Given the description of an element on the screen output the (x, y) to click on. 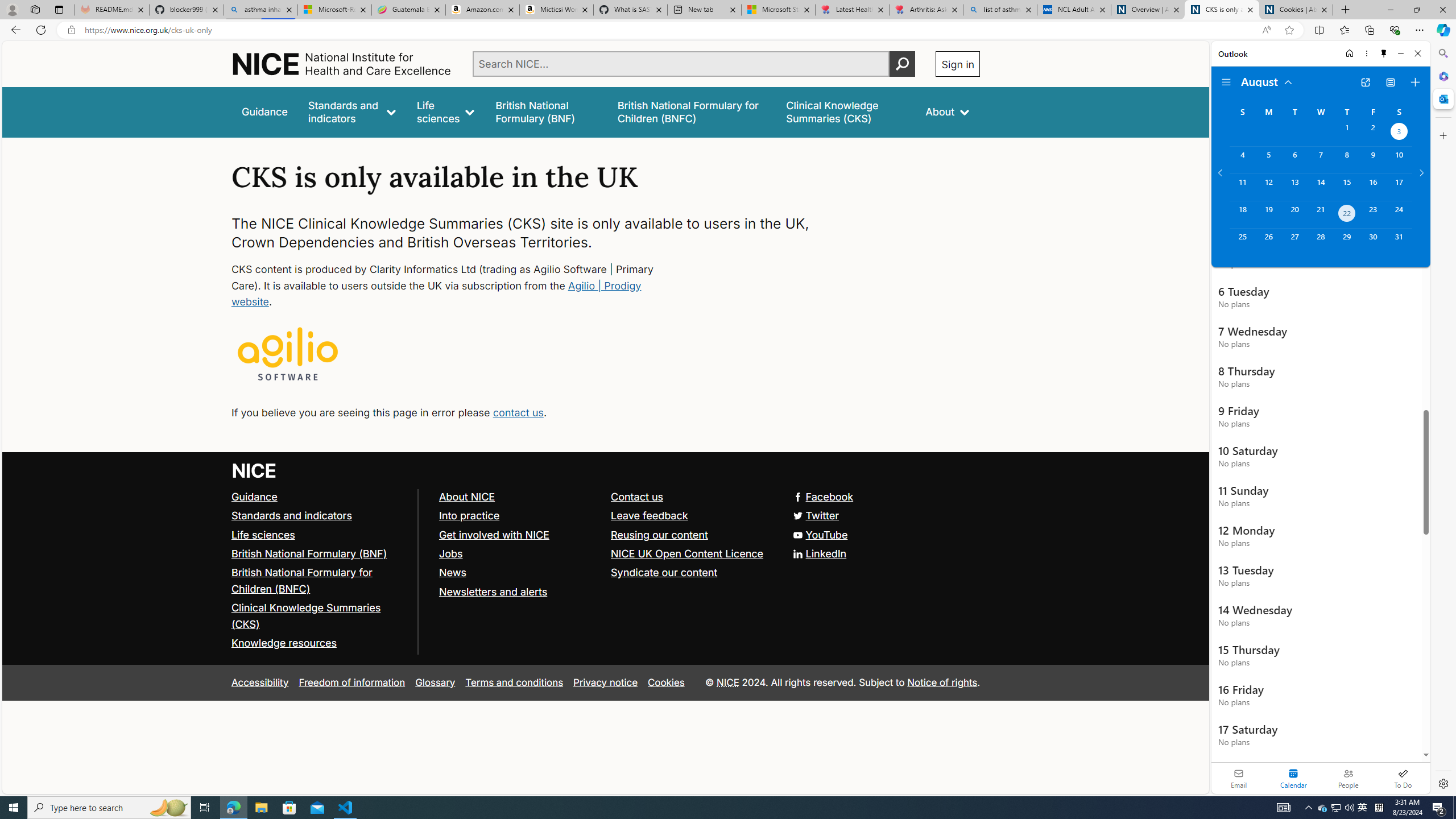
Thursday, August 15, 2024.  (1346, 186)
Notice of rights (941, 681)
Saturday, August 17, 2024.  (1399, 186)
Friday, August 30, 2024.  (1372, 241)
People (1347, 777)
Monday, August 26, 2024.  (1268, 241)
Sign in (957, 63)
